Given the description of an element on the screen output the (x, y) to click on. 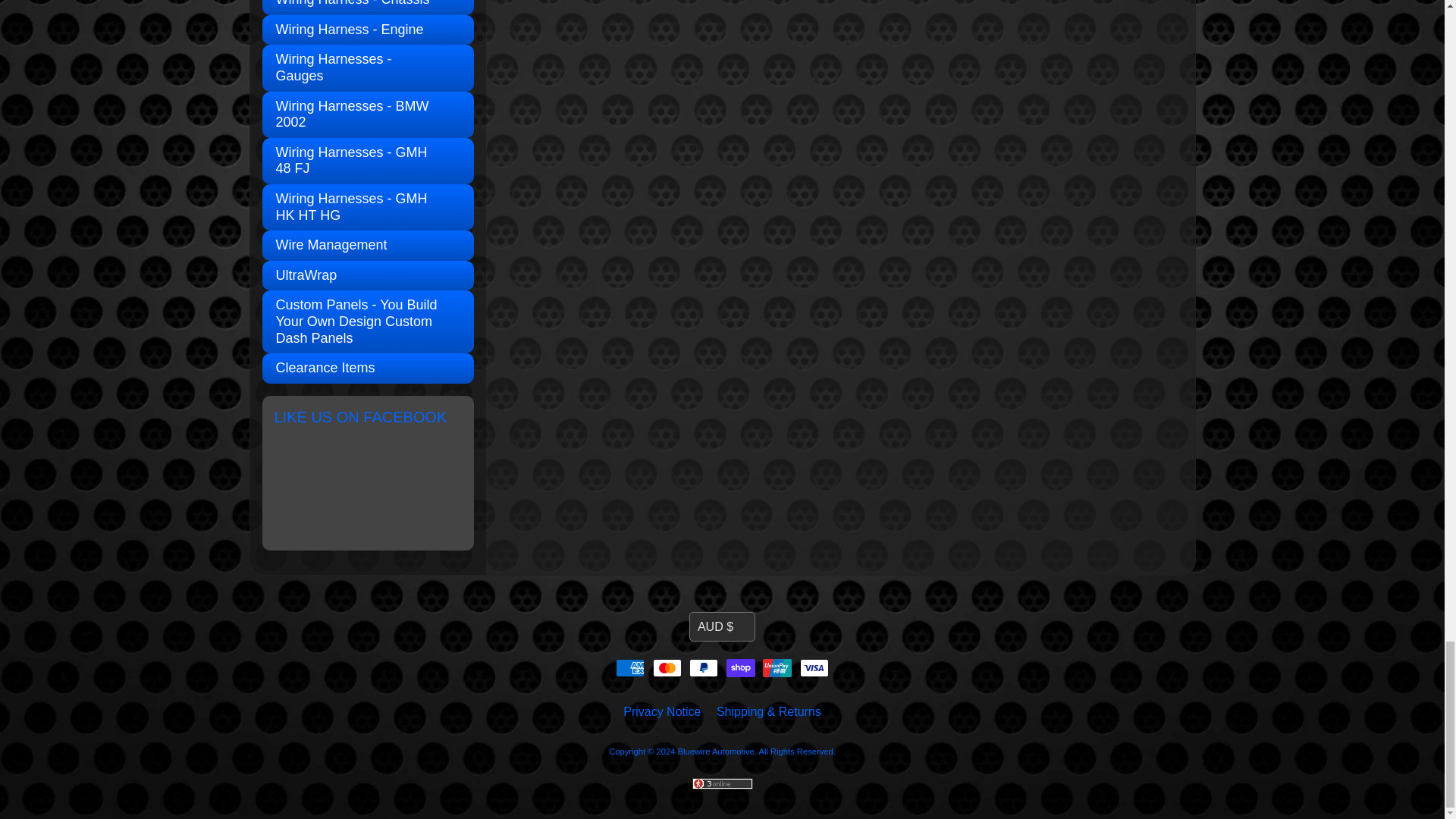
American Express (630, 668)
Shop Pay (740, 668)
Click to see what's popular on this site! (721, 783)
Visa (813, 668)
PayPal (702, 668)
Union Pay (777, 668)
Mastercard (666, 668)
